Given the description of an element on the screen output the (x, y) to click on. 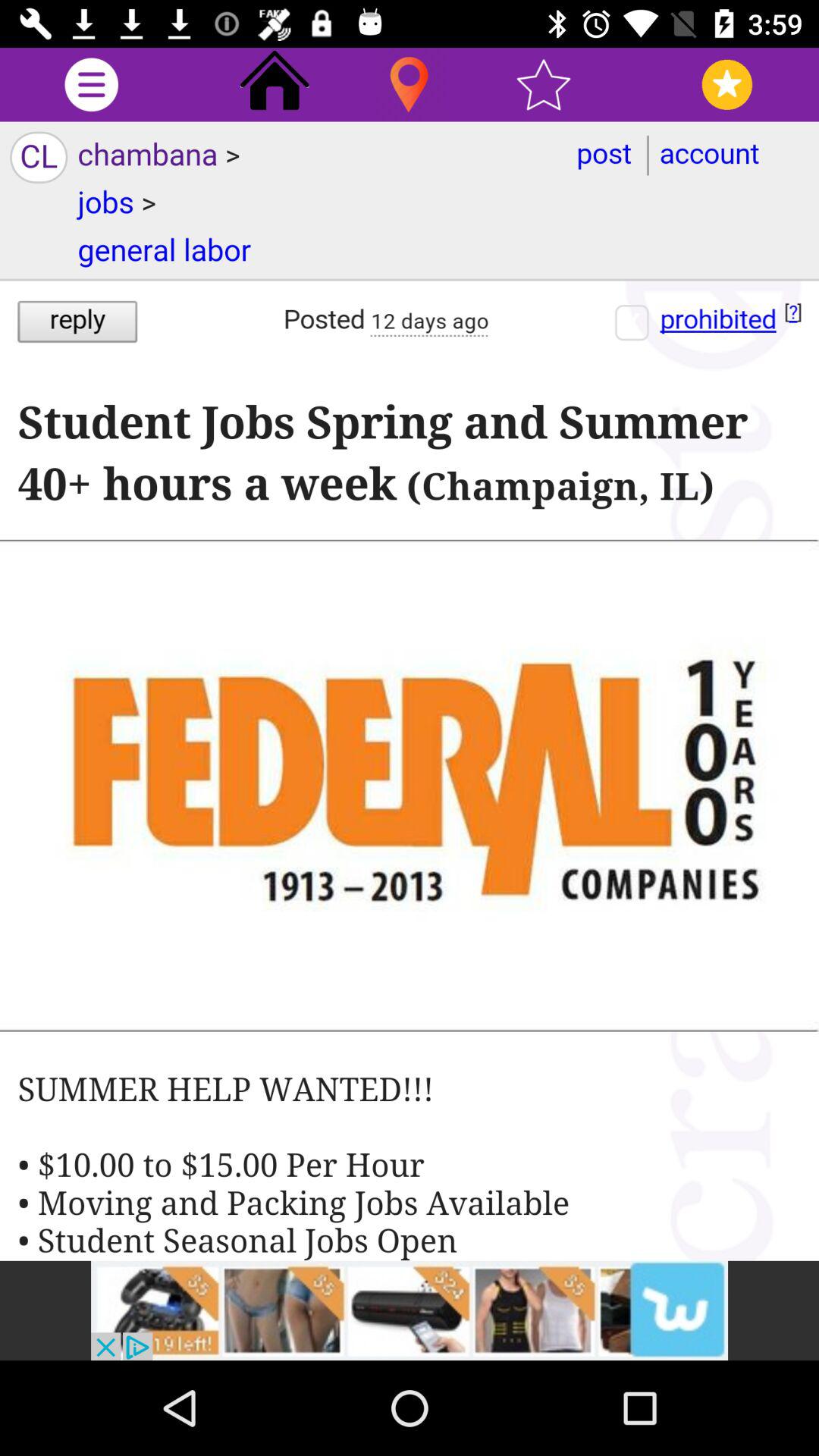
star to add to favorites (543, 84)
